Given the description of an element on the screen output the (x, y) to click on. 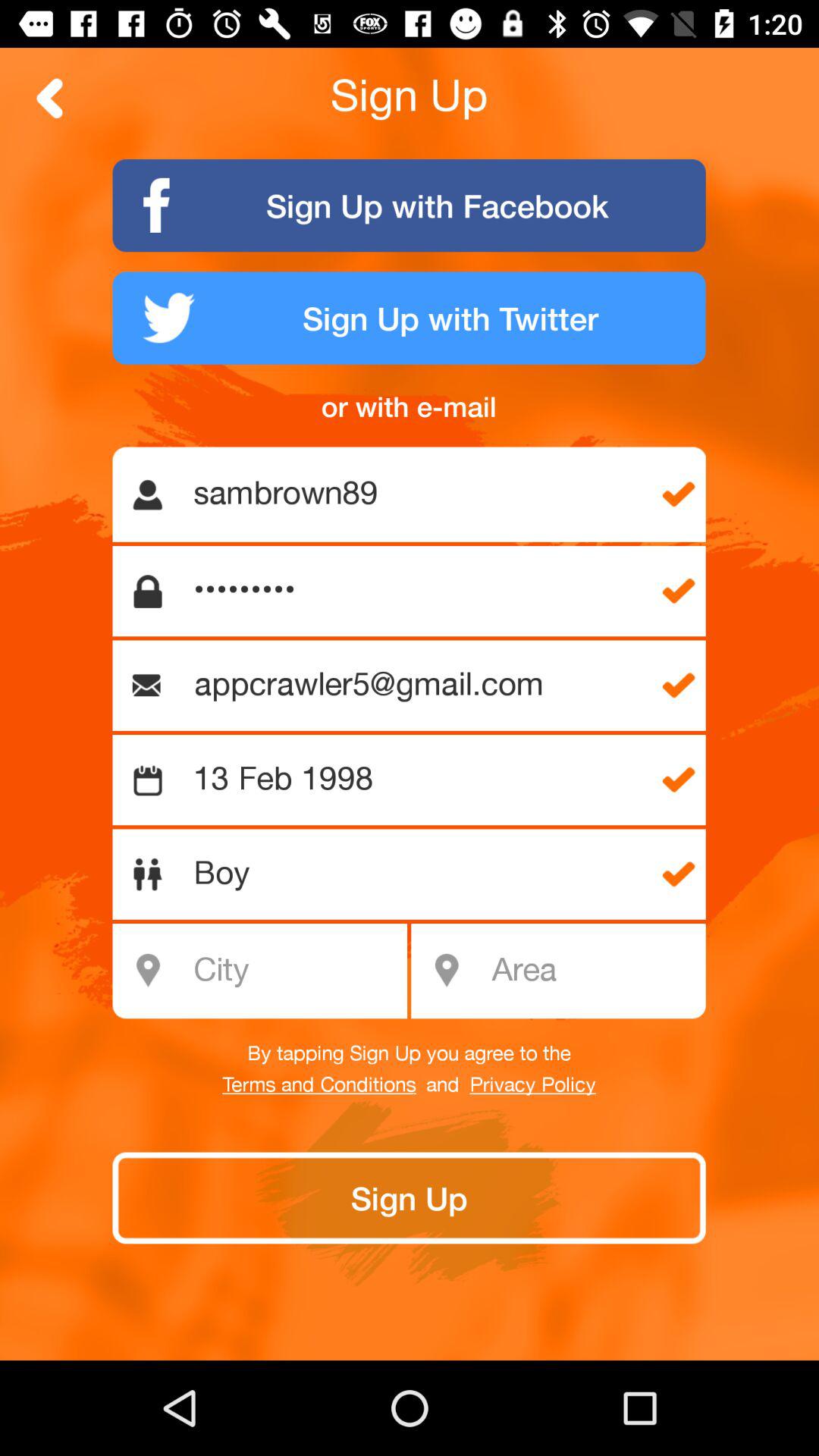
enter city name (268, 970)
